Given the description of an element on the screen output the (x, y) to click on. 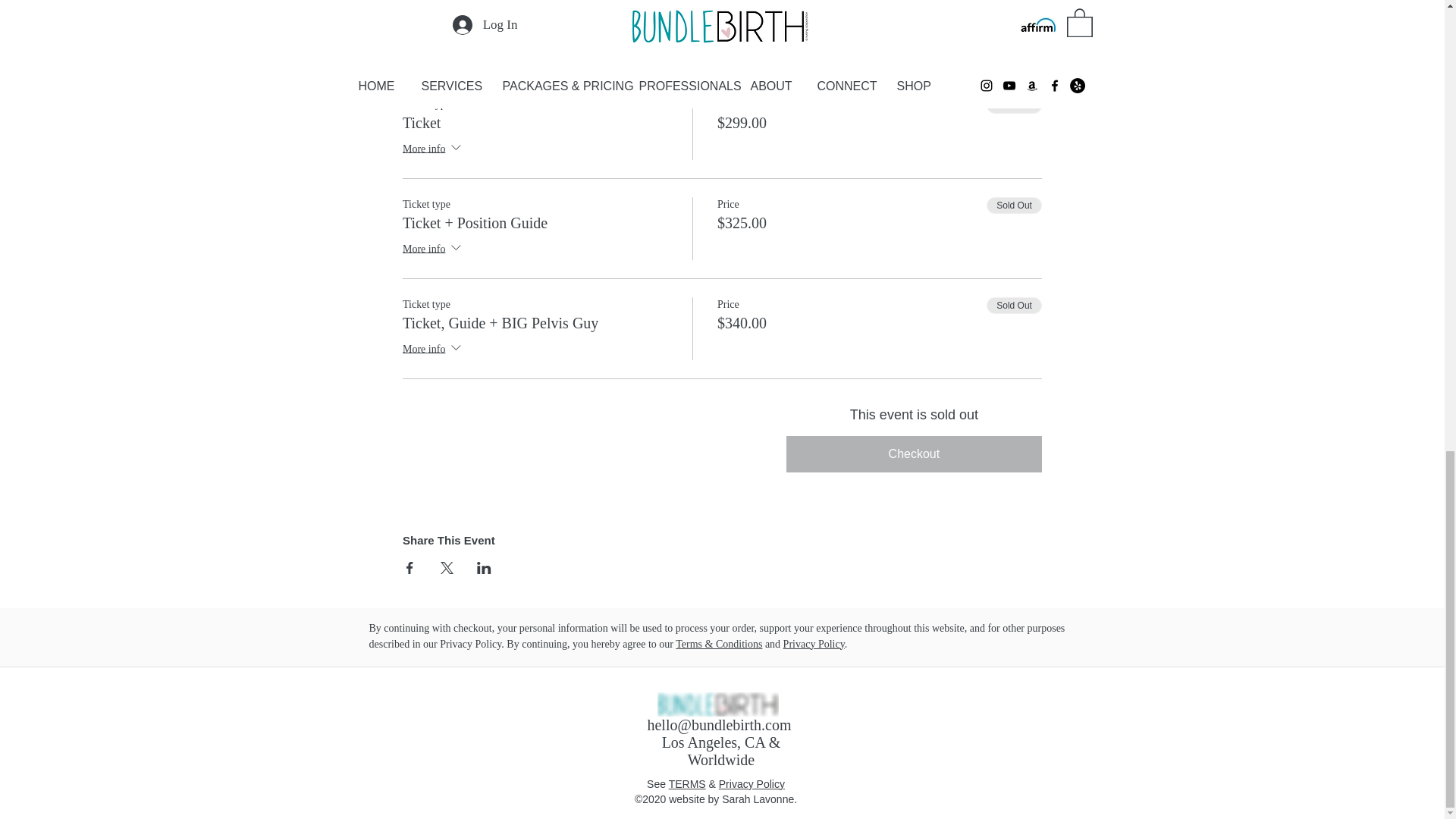
Privacy Policy (813, 644)
TERMS (687, 784)
More info (433, 249)
More info (433, 149)
More info (433, 349)
Checkout (914, 453)
